Given the description of an element on the screen output the (x, y) to click on. 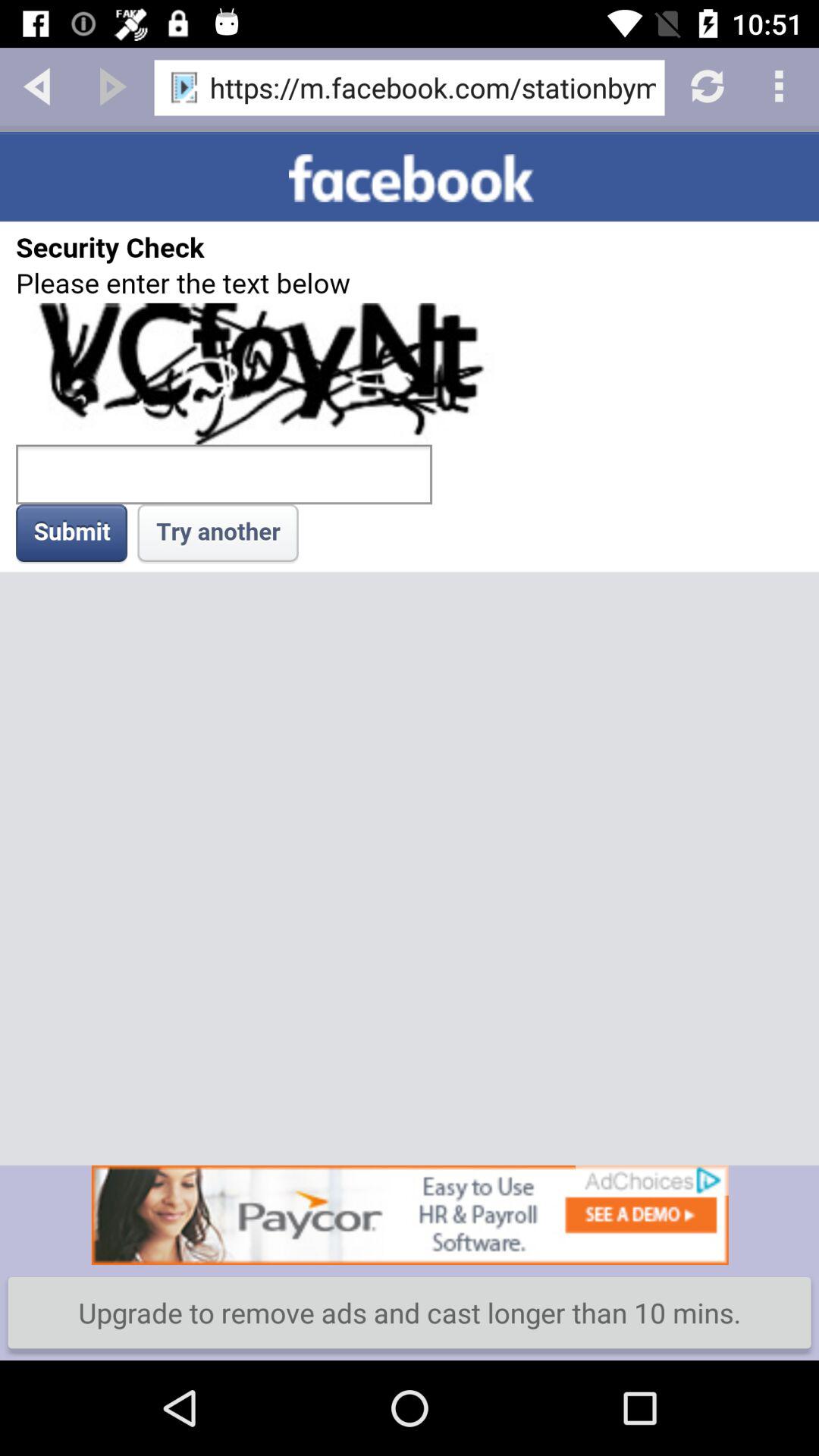
view options (781, 85)
